Given the description of an element on the screen output the (x, y) to click on. 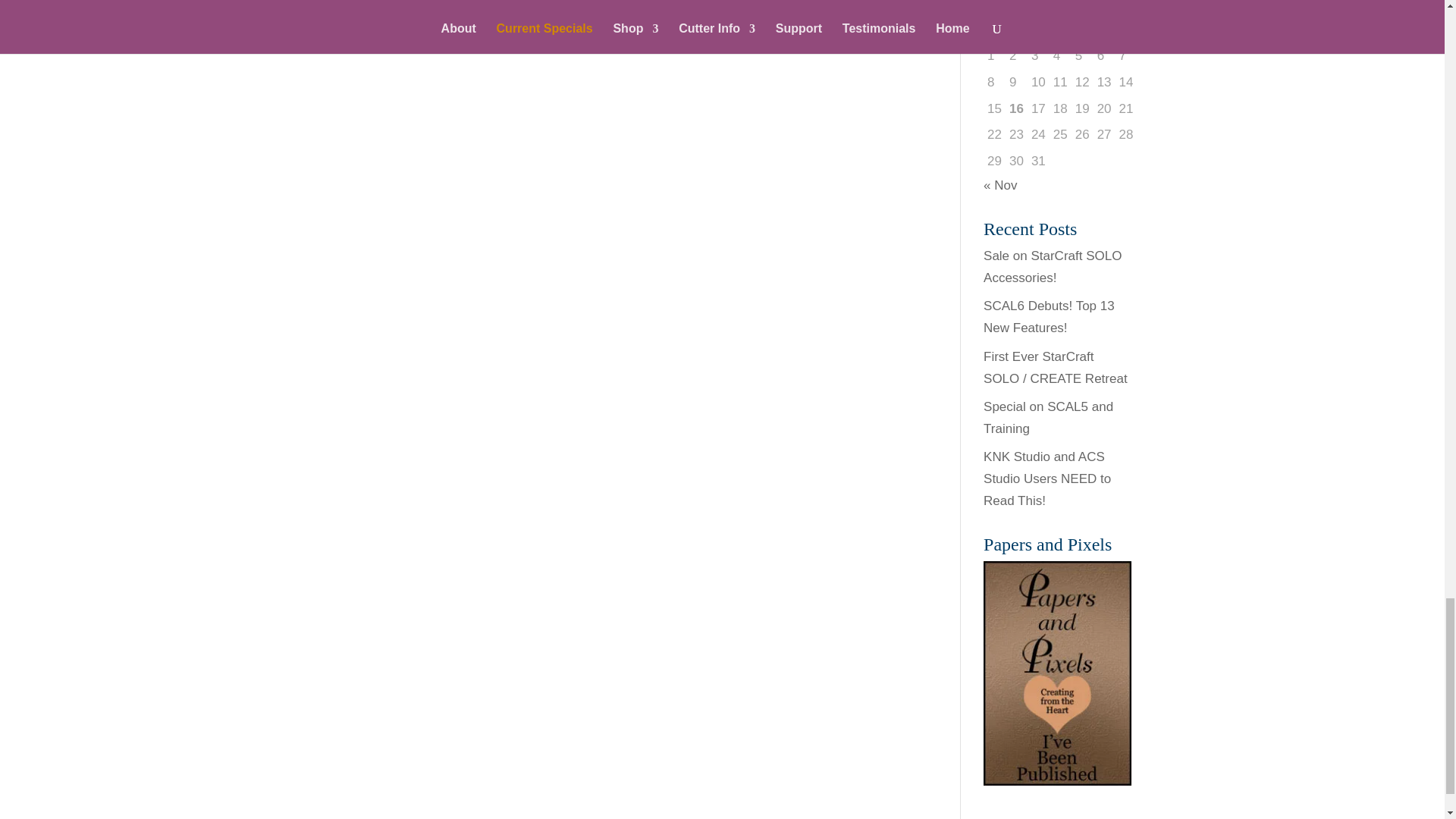
Friday (1082, 29)
Sunday (1126, 29)
Tuesday (1016, 29)
P and P Badge (1057, 673)
Thursday (1060, 29)
Monday (995, 29)
Saturday (1104, 29)
Wednesday (1038, 29)
